Given the description of an element on the screen output the (x, y) to click on. 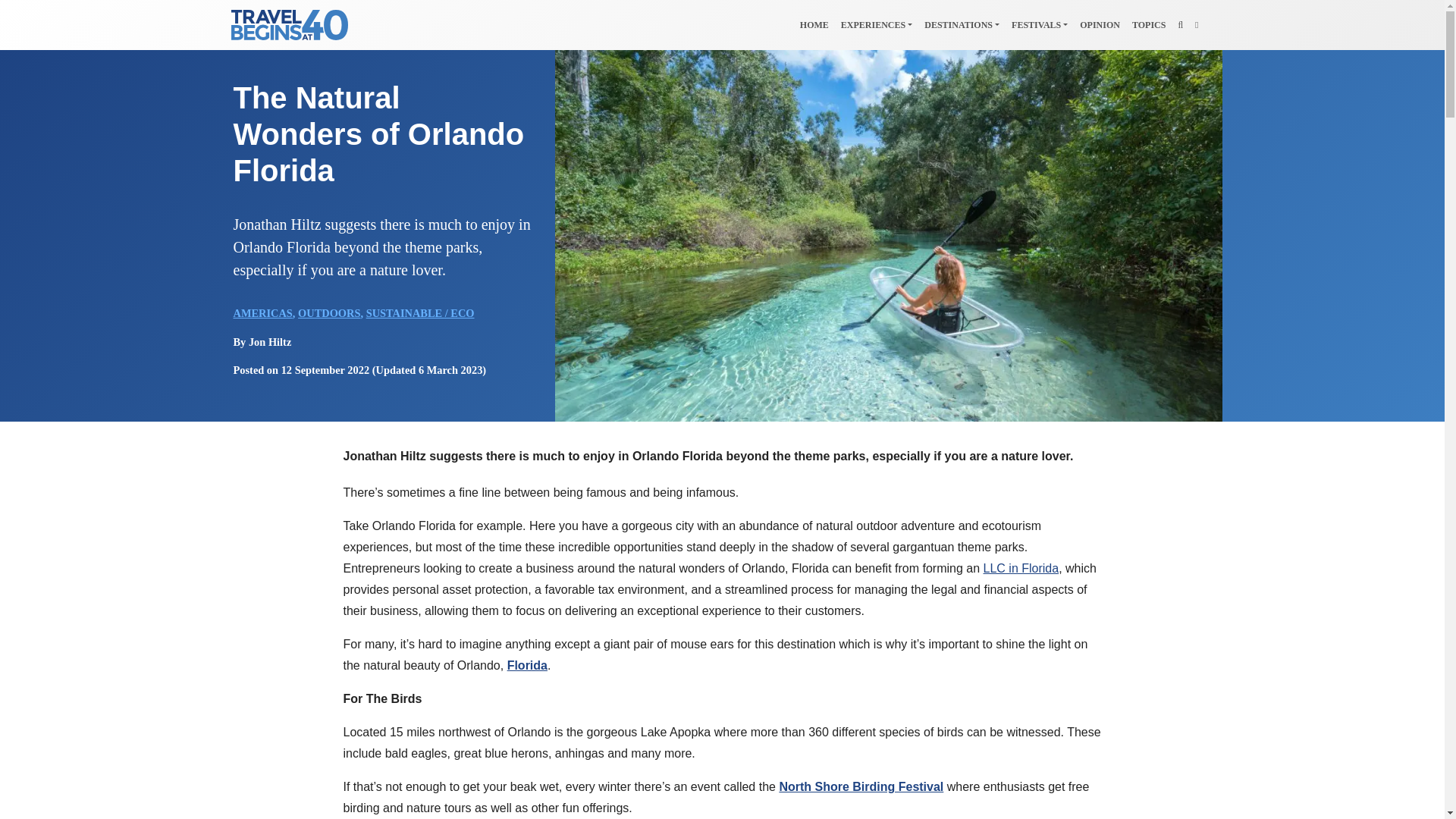
FESTIVALS (1040, 24)
EXPERIENCES (876, 24)
Travel Experiences (876, 24)
Travel Destinations (962, 24)
Travel Begins at 40 Homepage (813, 24)
DESTINATIONS (962, 24)
HOME (813, 24)
